Given the description of an element on the screen output the (x, y) to click on. 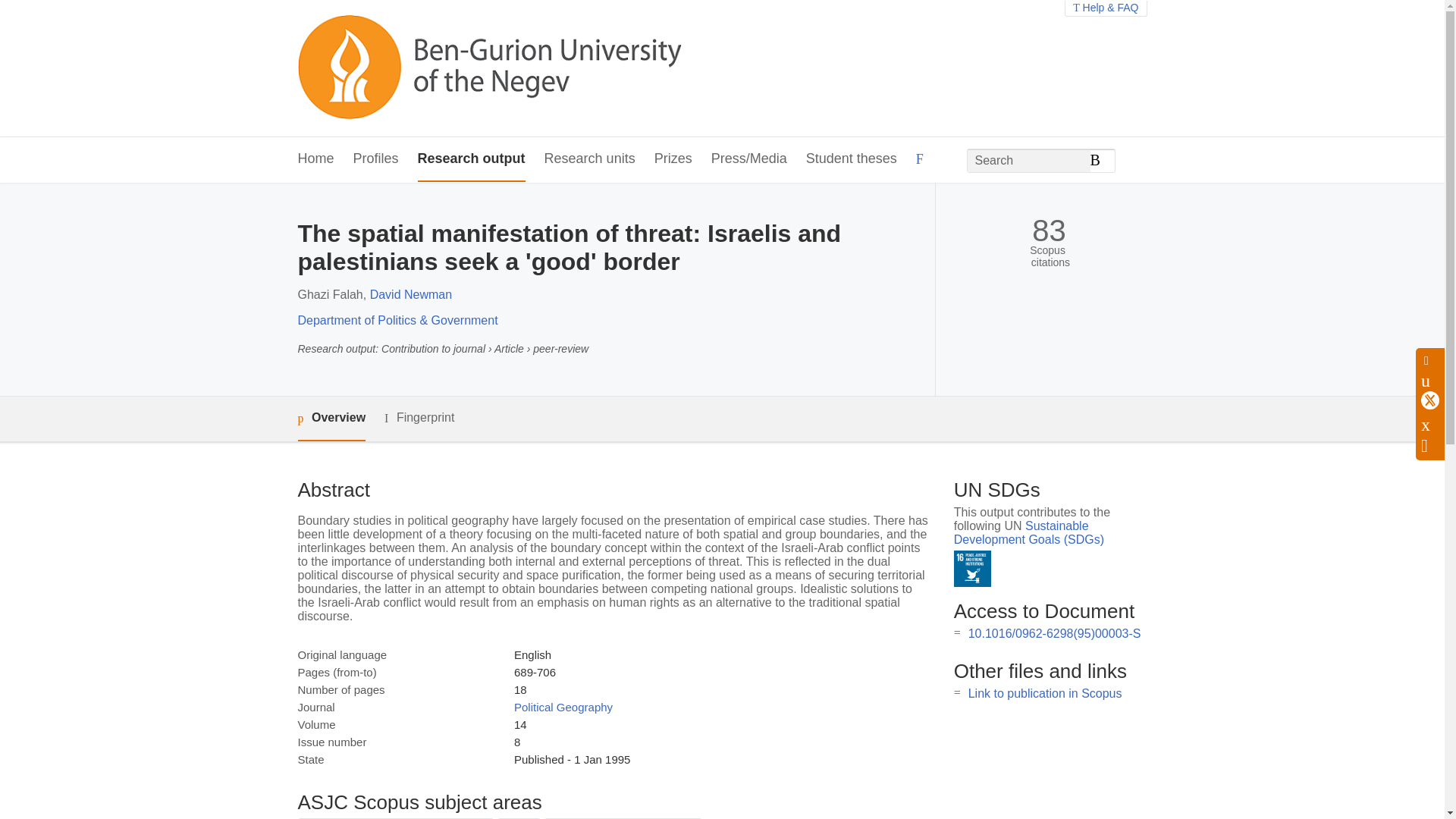
Student theses (851, 159)
Ben-Gurion University Research Portal Home (489, 68)
Research output (471, 159)
Overview (331, 418)
Link to publication in Scopus (1045, 693)
Research units (589, 159)
David Newman (410, 294)
Political Geography (562, 707)
SDG 16 - Peace, Justice and Strong Institutions (972, 569)
